Given the description of an element on the screen output the (x, y) to click on. 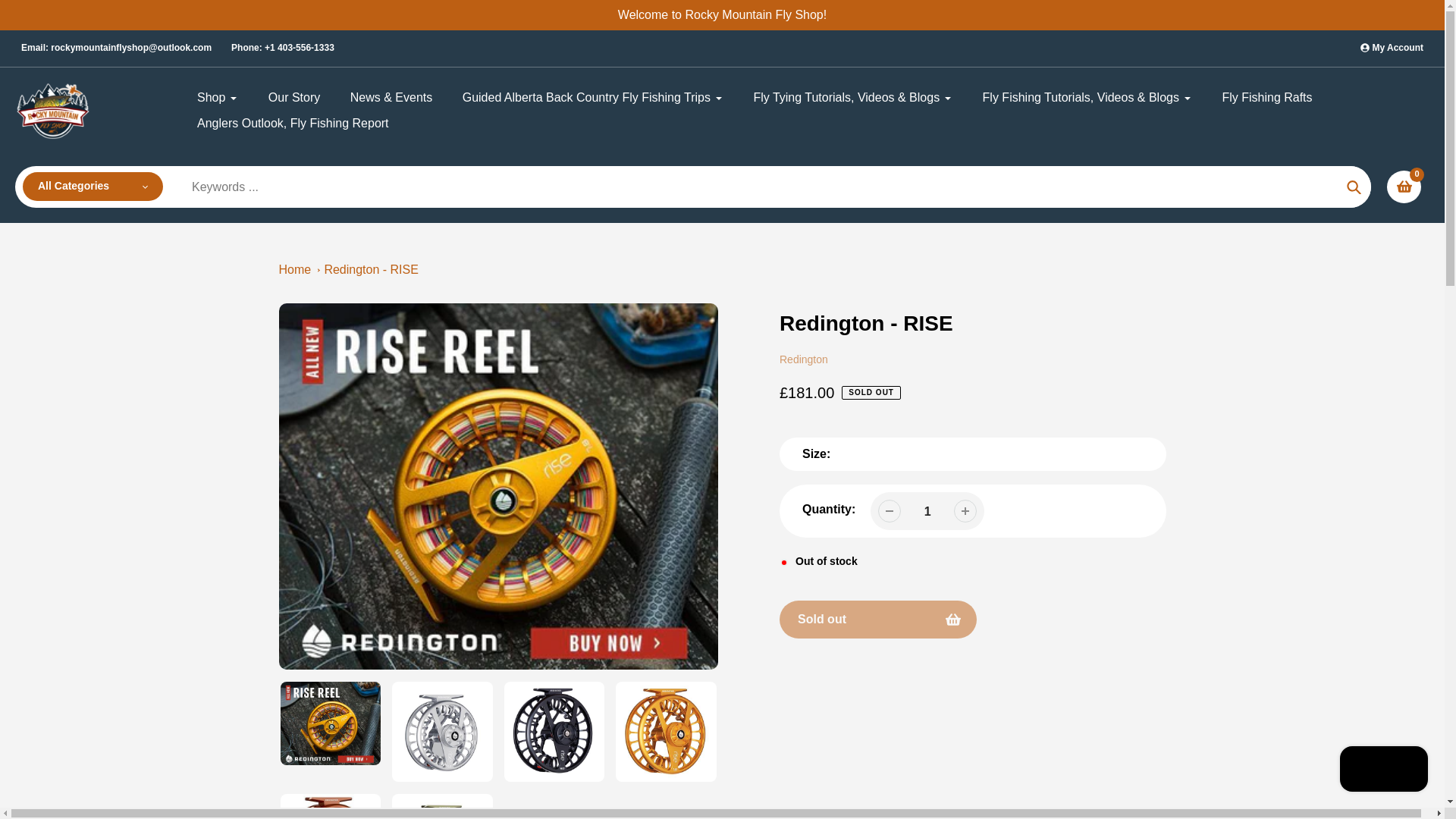
My Account (1391, 48)
Shopify online store chat (1383, 770)
1 (927, 511)
Shop (217, 97)
Redington (803, 358)
